Given the description of an element on the screen output the (x, y) to click on. 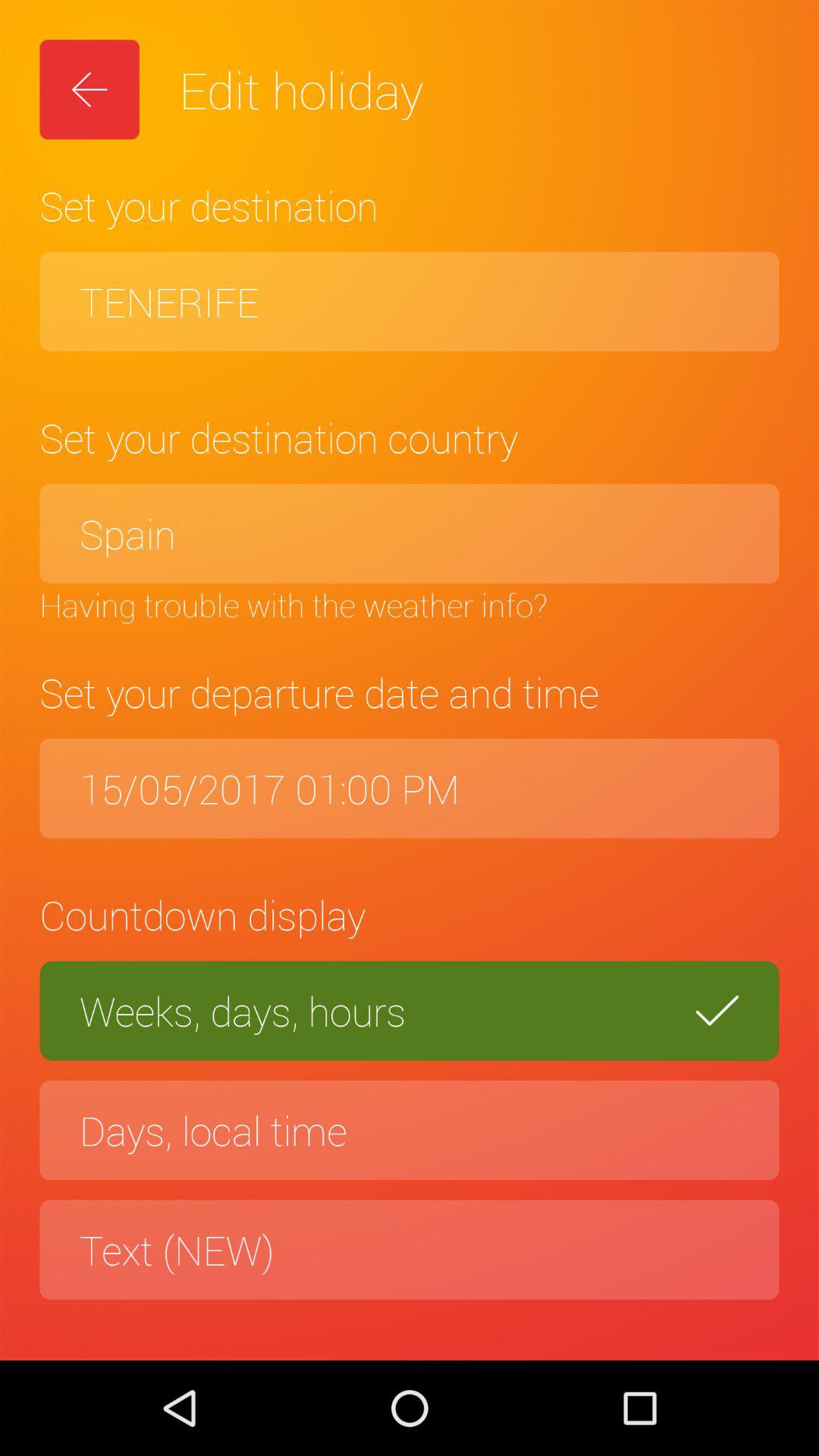
tap tenerife item (409, 301)
